Given the description of an element on the screen output the (x, y) to click on. 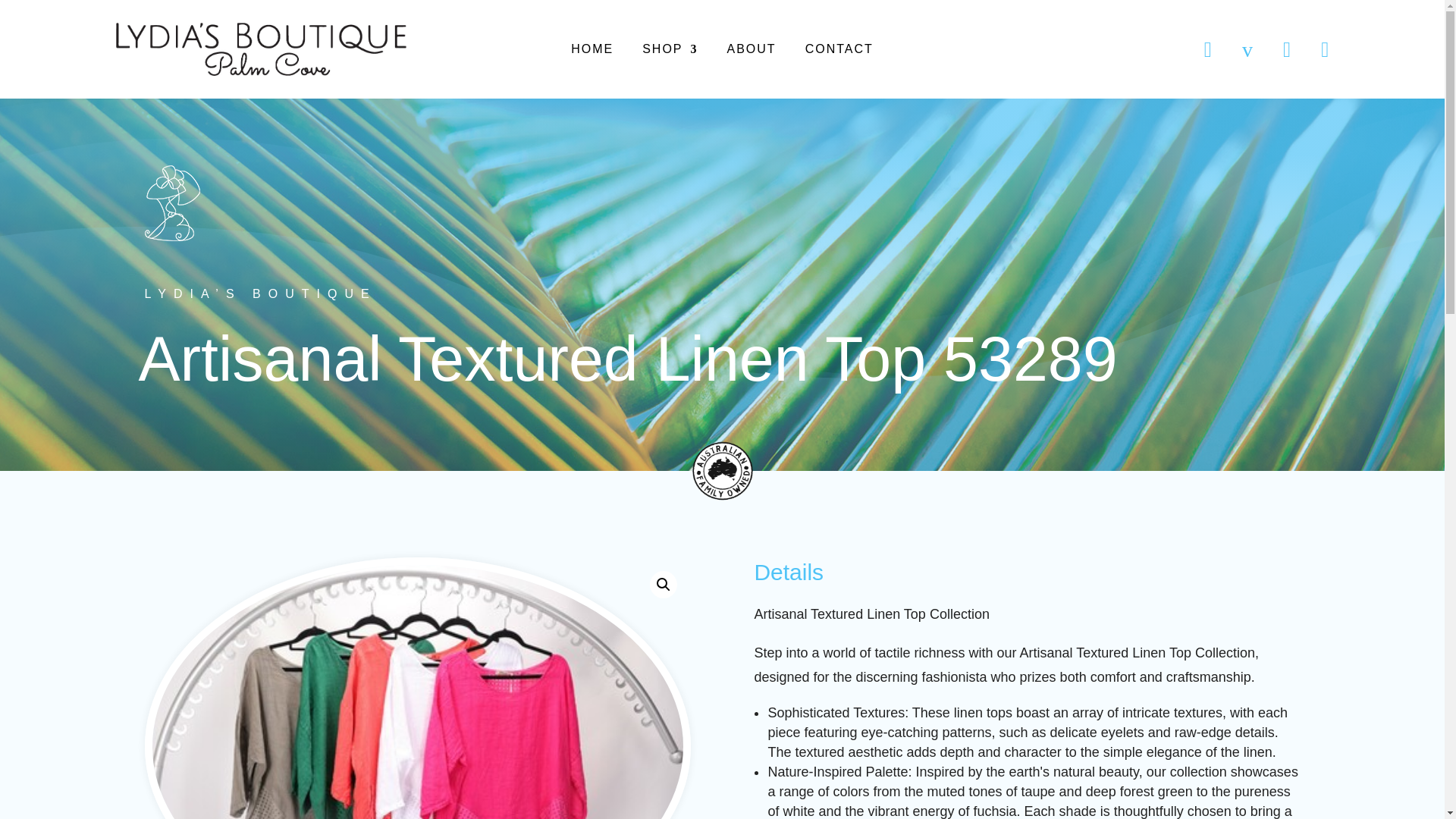
lydias-boutique-logo-text (260, 49)
ABOUT (751, 52)
HOME (591, 52)
CONTACT (839, 52)
australian-owned-badge (721, 471)
SHOP (669, 52)
